Given the description of an element on the screen output the (x, y) to click on. 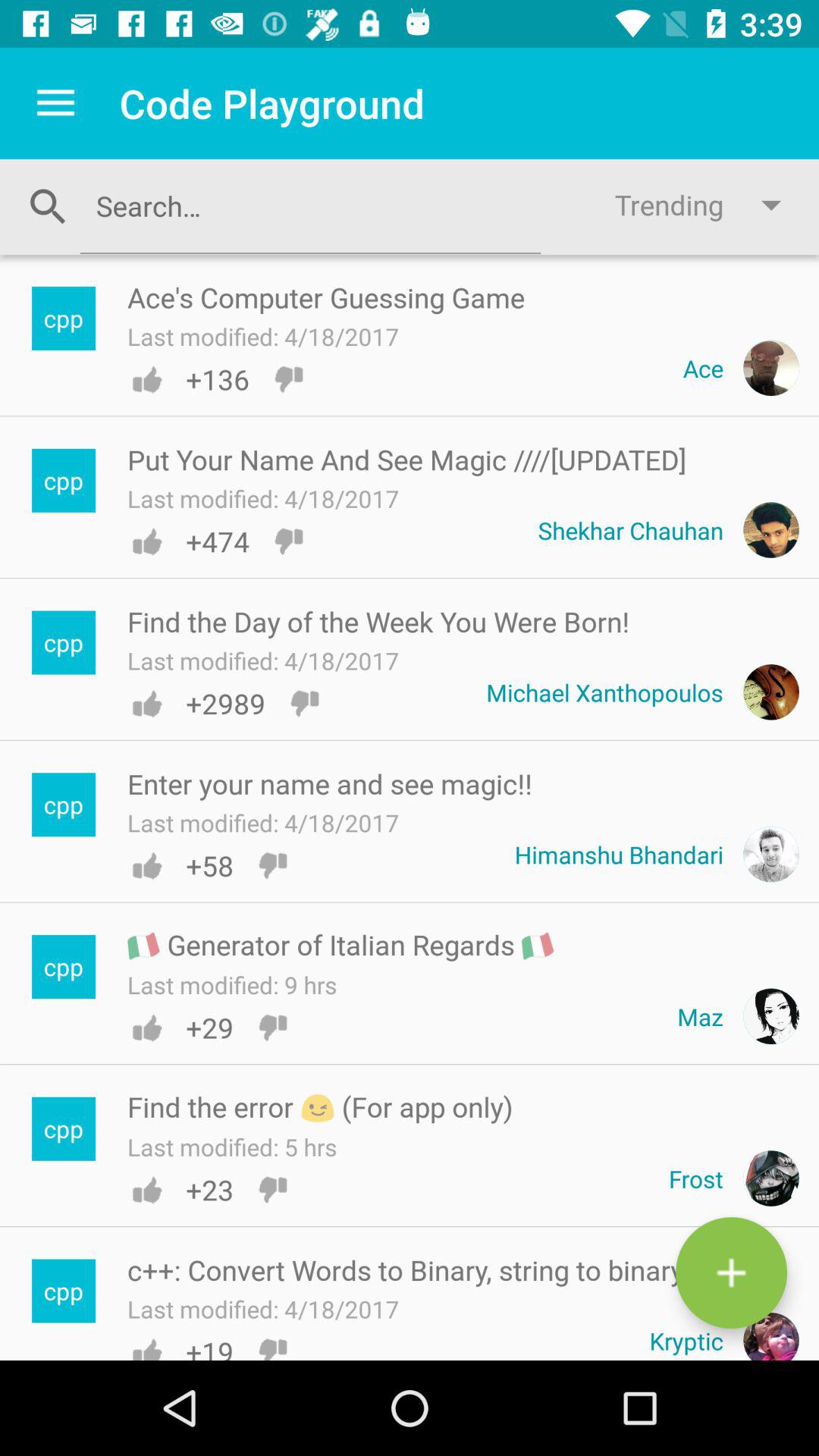
enter search criteria (310, 205)
